Given the description of an element on the screen output the (x, y) to click on. 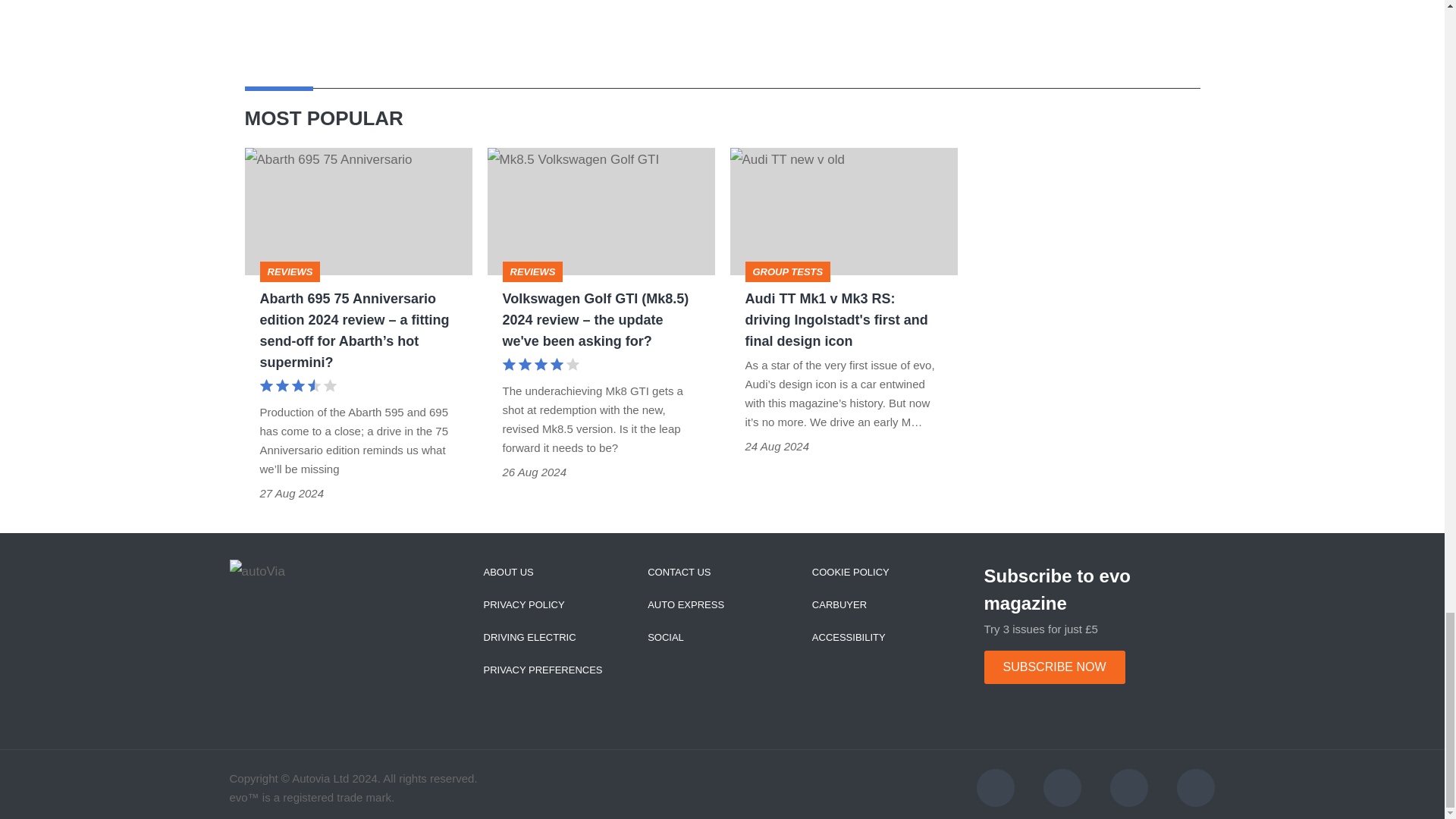
Subscribe now (1054, 666)
4 Stars (540, 365)
3.5 Stars (297, 386)
